Given the description of an element on the screen output the (x, y) to click on. 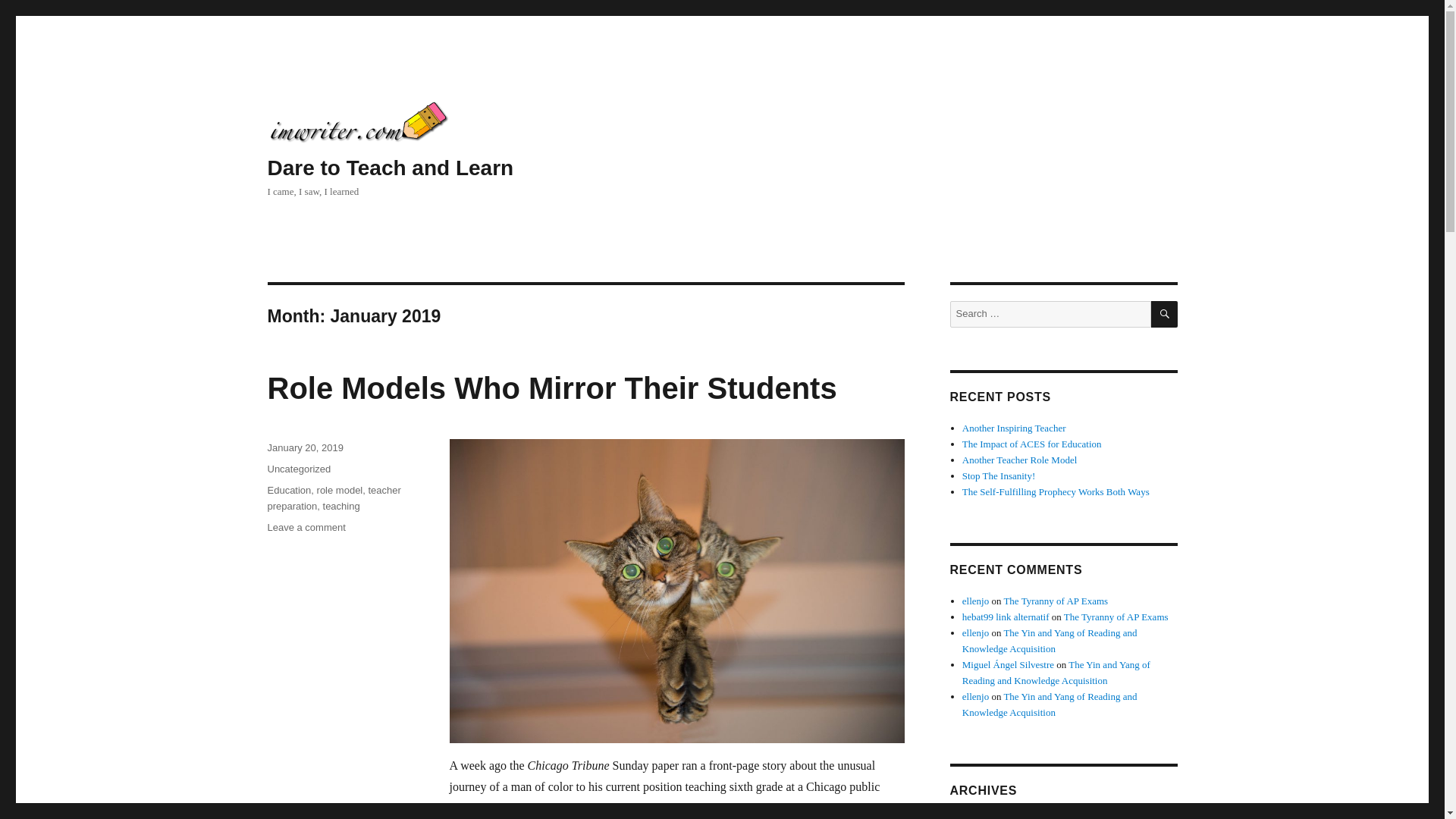
ellenjo (975, 696)
Another Teacher Role Model (1019, 460)
The Tyranny of AP Exams (1055, 600)
Stop The Insanity! (998, 475)
Education (288, 490)
SEARCH (305, 527)
The Yin and Yang of Reading and Knowledge Acquisition (1164, 314)
role model (1056, 672)
Dare to Teach and Learn (339, 490)
ellenjo (389, 167)
teaching (975, 632)
ellenjo (341, 505)
Another Inspiring Teacher (975, 600)
The Impact of ACES for Education (1013, 428)
